Given the description of an element on the screen output the (x, y) to click on. 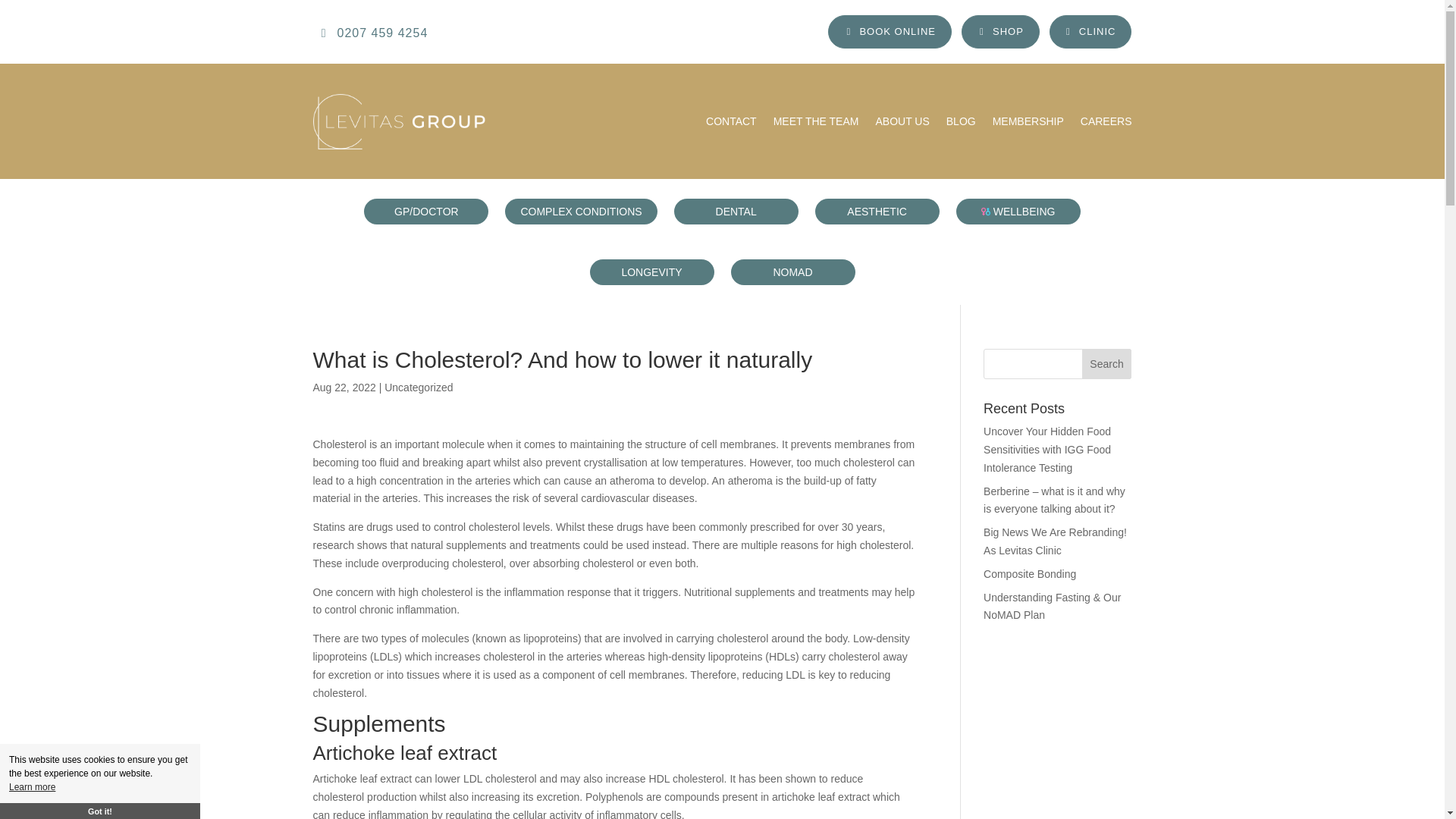
CAREERS (1106, 120)
ABOUT US (901, 120)
Search (1106, 363)
MEET THE TEAM (816, 120)
BOOK ONLINE (890, 31)
CLINIC (1090, 31)
Got it! (100, 811)
MEMBERSHIP (1028, 120)
Learn more (31, 786)
SHOP (999, 31)
0207 459 4254 (374, 32)
